Given the description of an element on the screen output the (x, y) to click on. 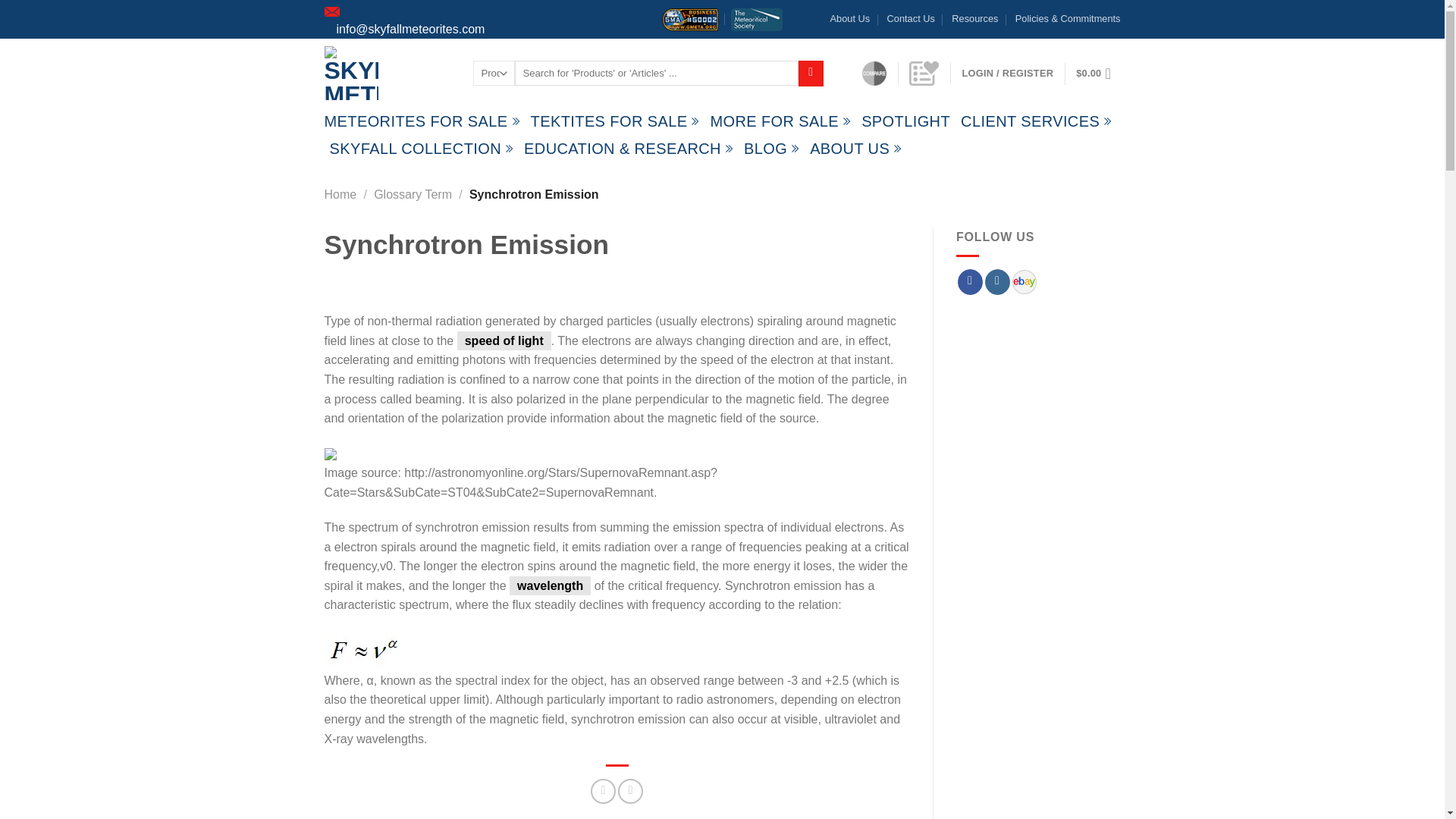
Cart (1097, 73)
Contact Us (910, 18)
About Us (849, 18)
Follow on Ebay (1023, 281)
Share on Facebook (603, 790)
Email to a Friend (630, 790)
Resources (974, 18)
Follow on Instagram (997, 281)
Search (810, 73)
